Given the description of an element on the screen output the (x, y) to click on. 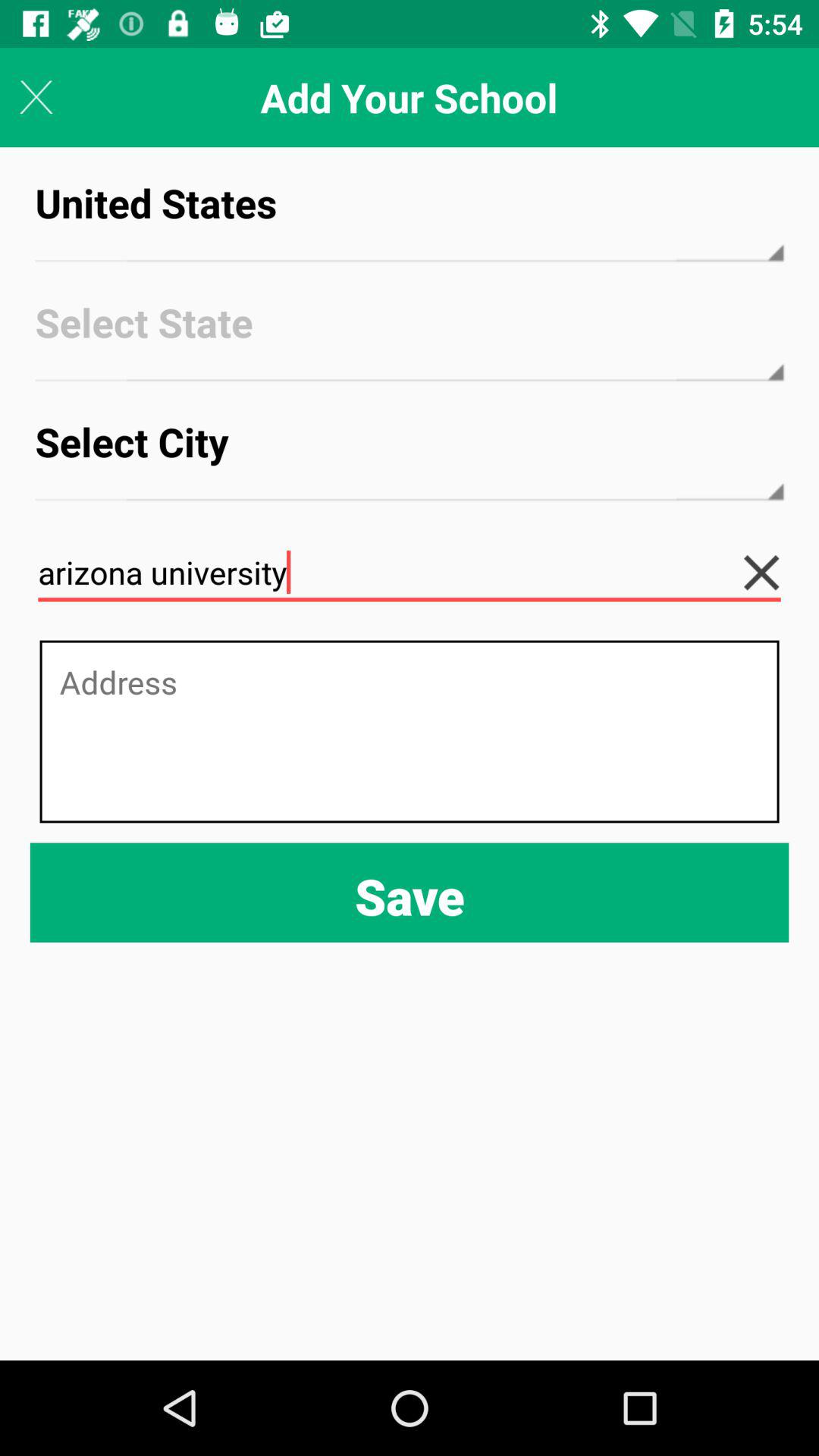
open select state icon (409, 336)
